Given the description of an element on the screen output the (x, y) to click on. 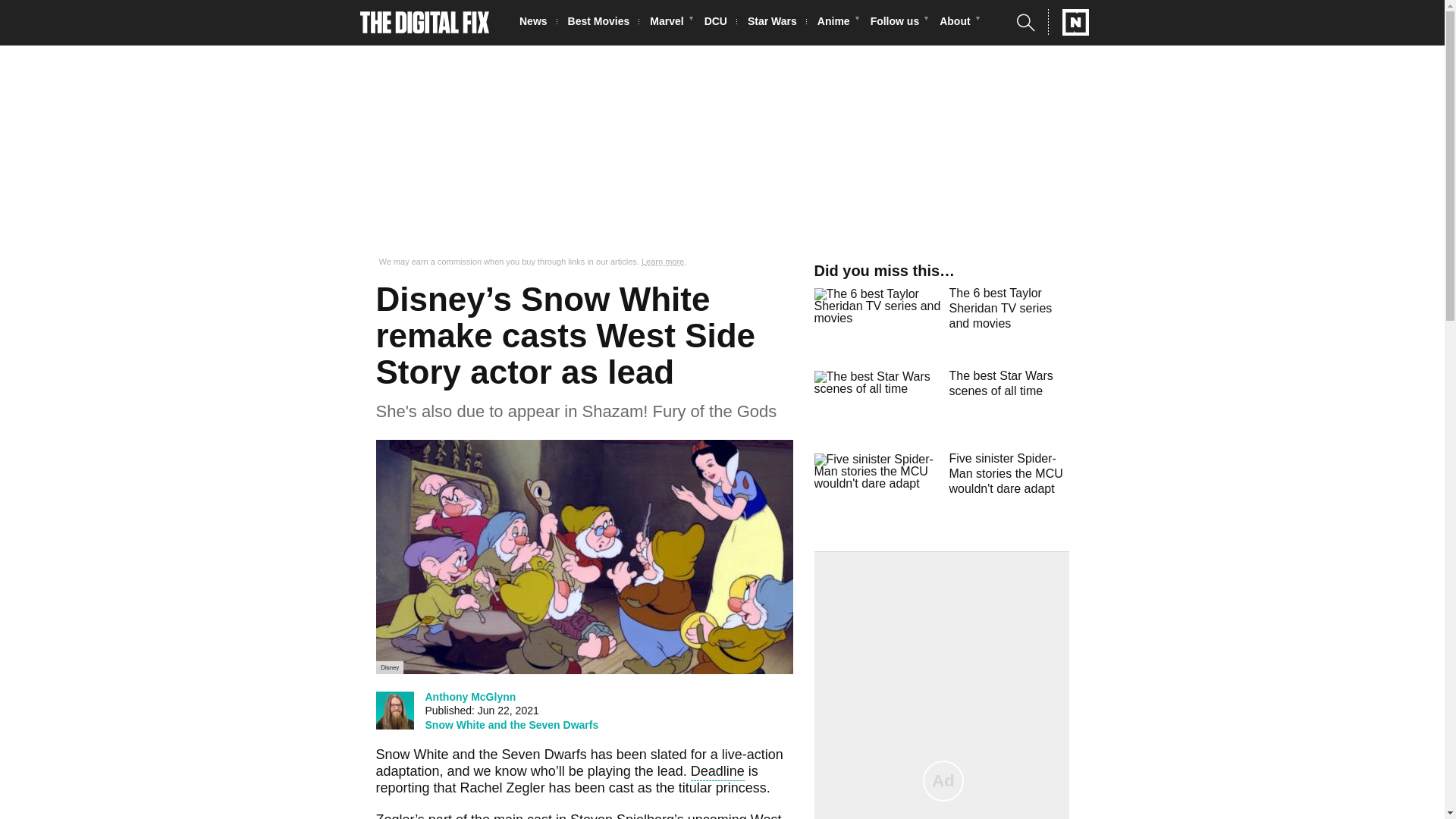
Marvel Cinematic Universe News (671, 22)
About (958, 22)
Anime News (837, 22)
Anthony McGlynn (470, 696)
DCU (720, 22)
Follow us (899, 22)
News (537, 22)
Star Wars News (777, 22)
The Digital Fix (424, 22)
DC Comics Universe News (720, 22)
Best Movies (603, 22)
Marvel (671, 22)
Anime (837, 22)
Network N Media (1068, 22)
Snow White and the Seven Dwarfs (511, 725)
